Given the description of an element on the screen output the (x, y) to click on. 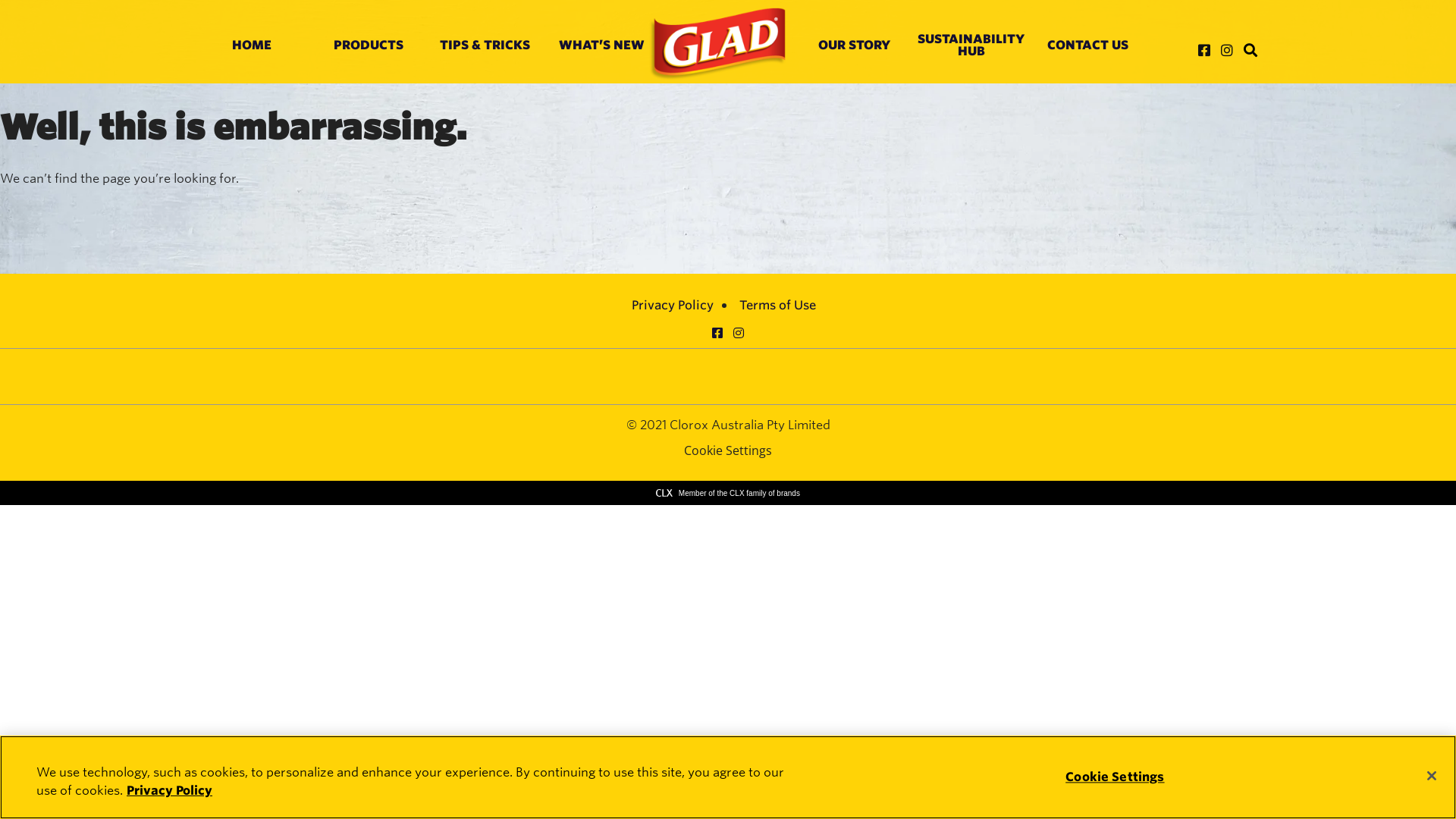
Glad Australia Element type: text (717, 43)
Cookie Settings Element type: text (1114, 776)
Facebook Element type: text (717, 332)
Privacy Policy Element type: text (672, 304)
Facebook Element type: text (1204, 49)
Instagram Element type: text (738, 332)
Privacy Policy Element type: text (169, 789)
Member of the CLX family of brands Element type: text (727, 492)
Terms of Use Element type: text (777, 304)
Instagram Element type: text (1226, 49)
Cookie Settings Element type: text (727, 450)
